Given the description of an element on the screen output the (x, y) to click on. 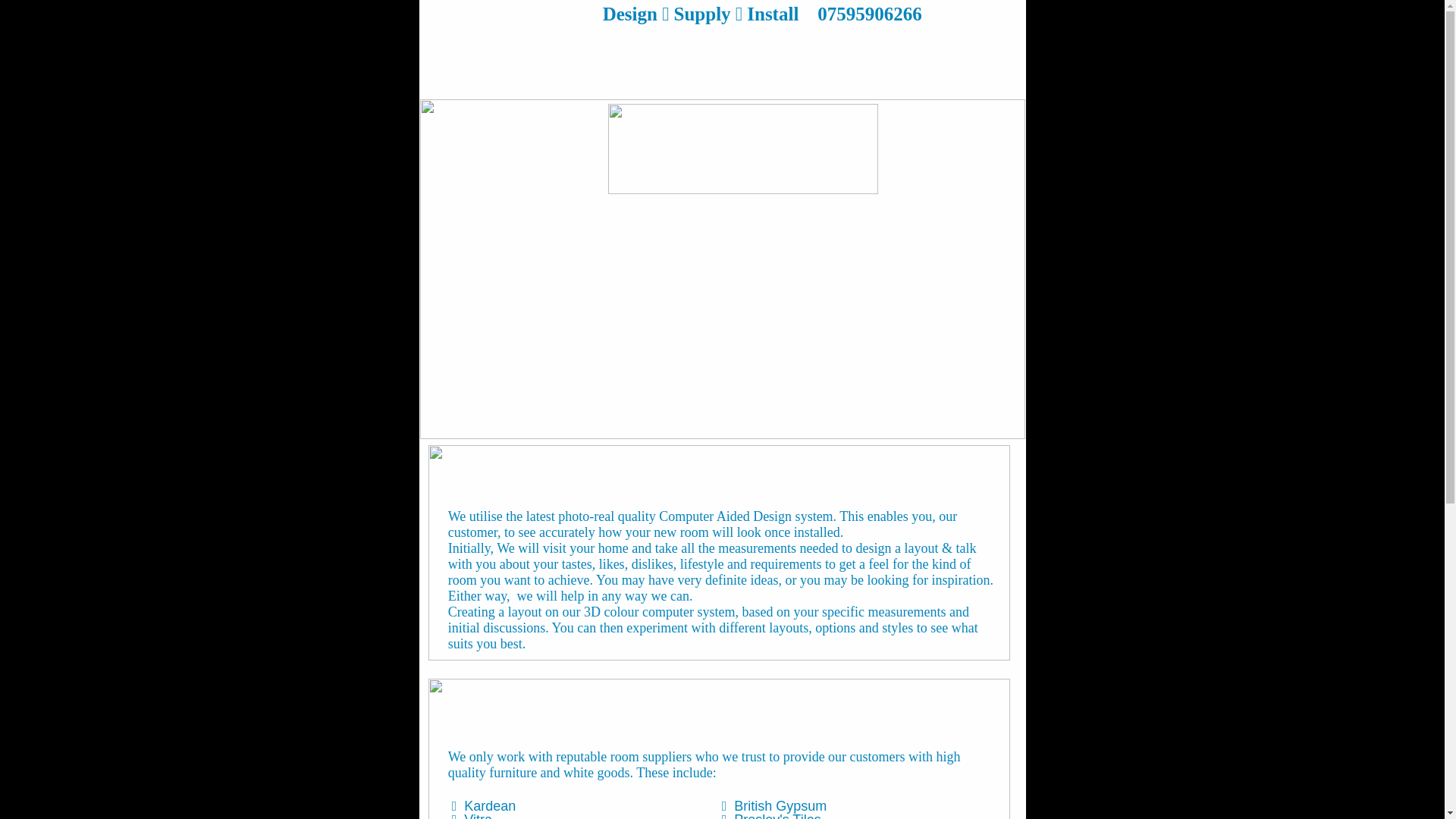
Home Page (457, 57)
Design - Supply - Install (542, 57)
Facebook (624, 57)
Contact Us (678, 57)
